Given the description of an element on the screen output the (x, y) to click on. 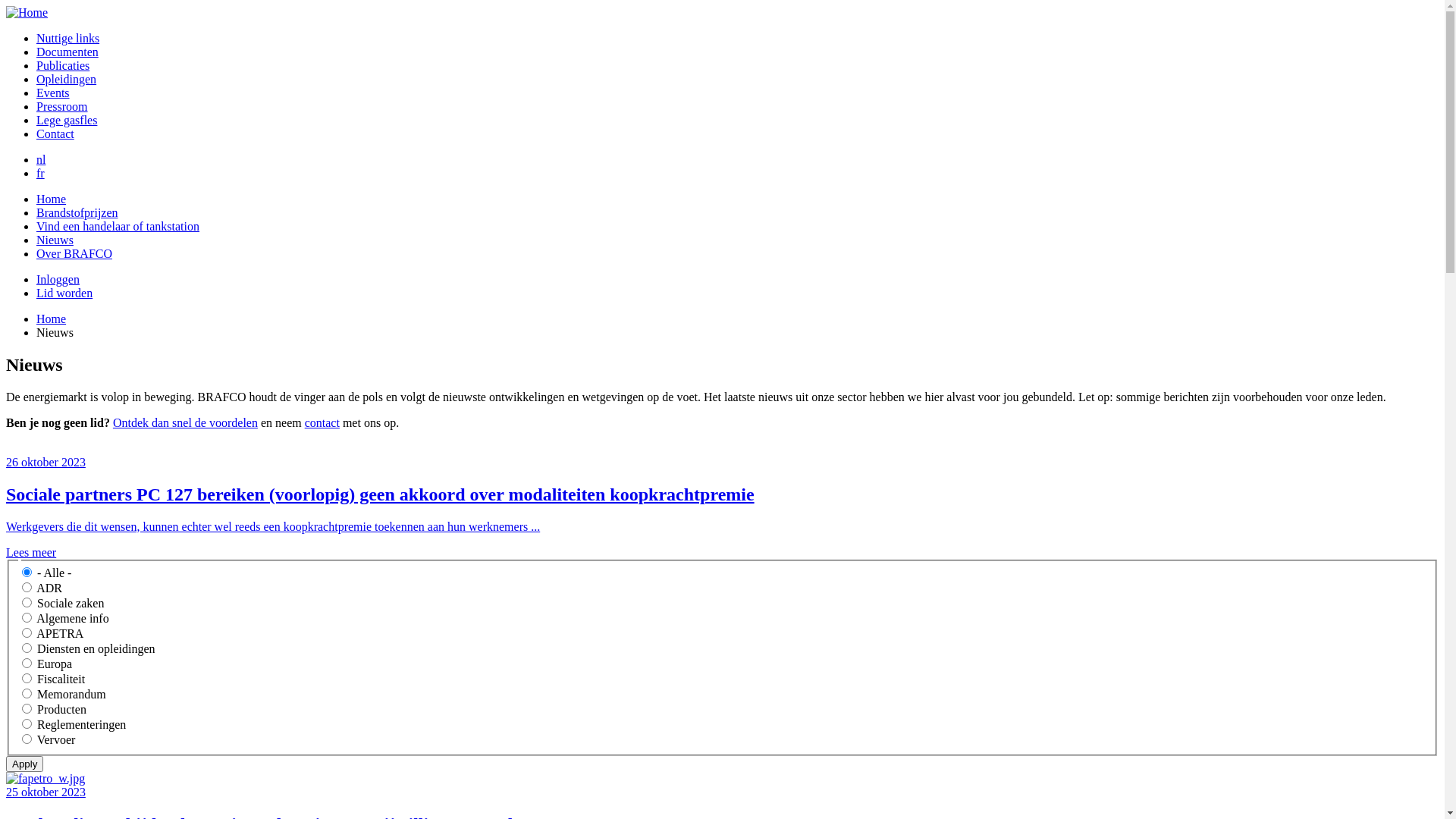
Nieuws Element type: text (54, 239)
Apply Element type: text (24, 763)
Pressroom Element type: text (61, 106)
Ontdek dan snel de voordelen Element type: text (184, 422)
Lid worden Element type: text (64, 292)
Inloggen Element type: text (57, 279)
Events Element type: text (52, 92)
fr Element type: text (40, 172)
Opleidingen Element type: text (66, 78)
Home Element type: text (50, 198)
Publicaties Element type: text (62, 65)
Lege gasfles Element type: text (66, 119)
Home Element type: text (50, 318)
nl Element type: text (40, 159)
contact Element type: text (321, 422)
Vind een handelaar of tankstation Element type: text (117, 225)
Contact Element type: text (55, 133)
Brandstofprijzen Element type: text (77, 212)
Nuttige links Element type: text (67, 37)
Over BRAFCO Element type: text (74, 253)
fapetro_w.jpg Element type: hover (45, 778)
Documenten Element type: text (67, 51)
